Given the description of an element on the screen output the (x, y) to click on. 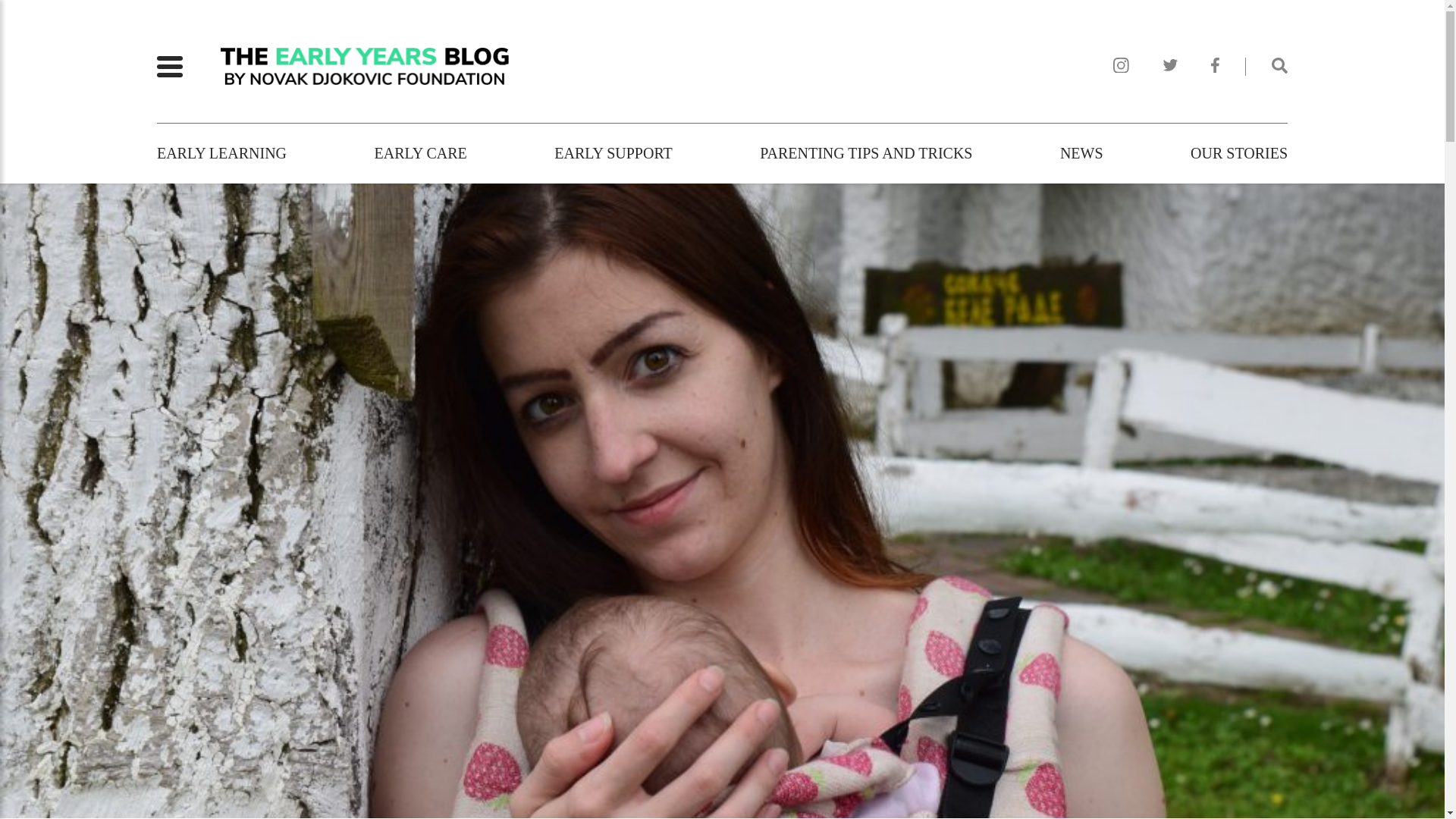
PARENTING TIPS AND TRICKS (866, 153)
EARLY LEARNING (221, 153)
OUR STORIES (1239, 153)
EARLY CARE (420, 153)
EARLY SUPPORT (613, 153)
